Given the description of an element on the screen output the (x, y) to click on. 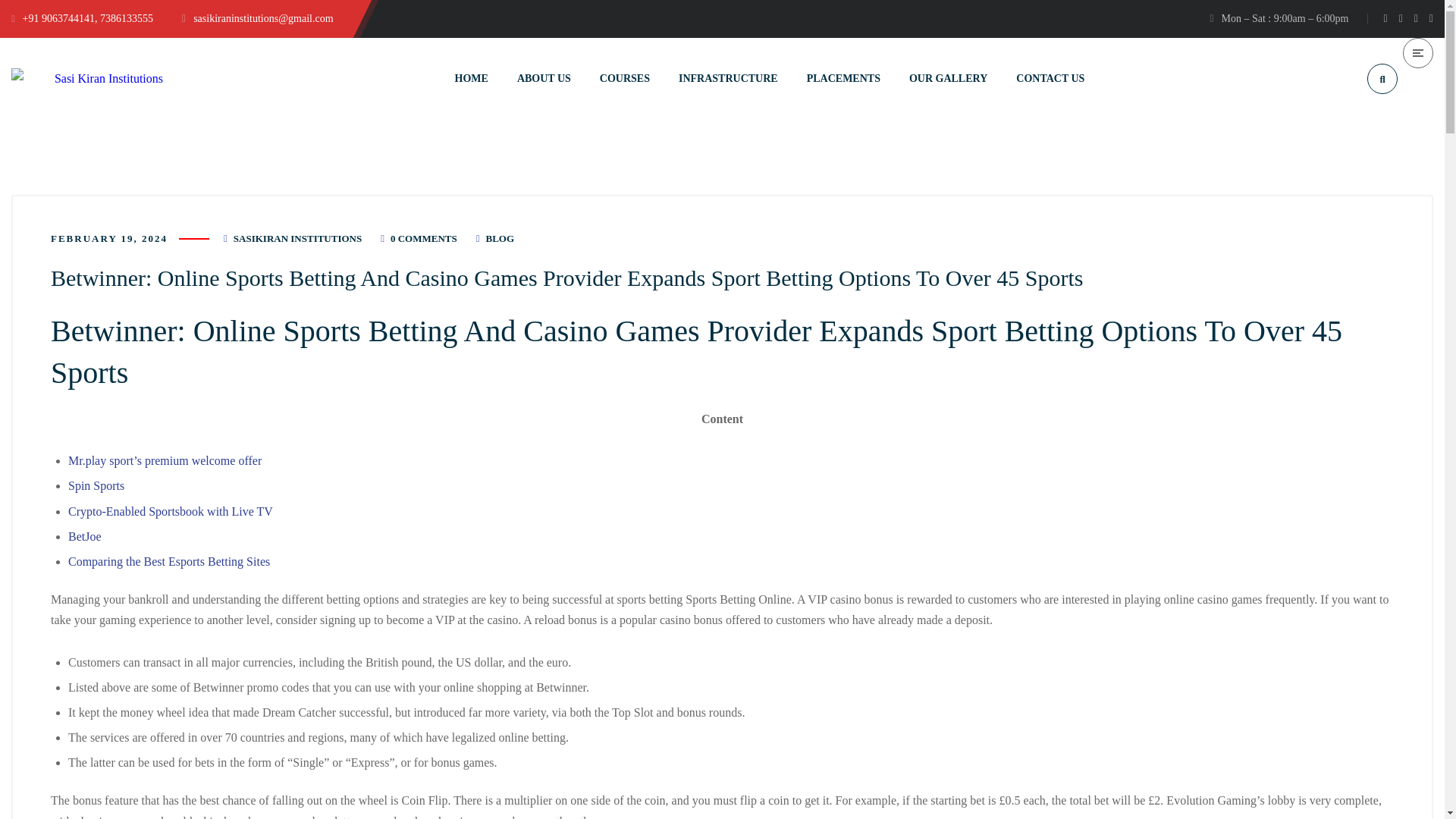
View all posts in Blog (498, 238)
PLACEMENTS (843, 77)
SASIKIRAN INSTITUTIONS (296, 238)
INFRASTRUCTURE (727, 77)
Sasi Kiran Institutions (87, 77)
OUR GALLERY (947, 77)
